Given the description of an element on the screen output the (x, y) to click on. 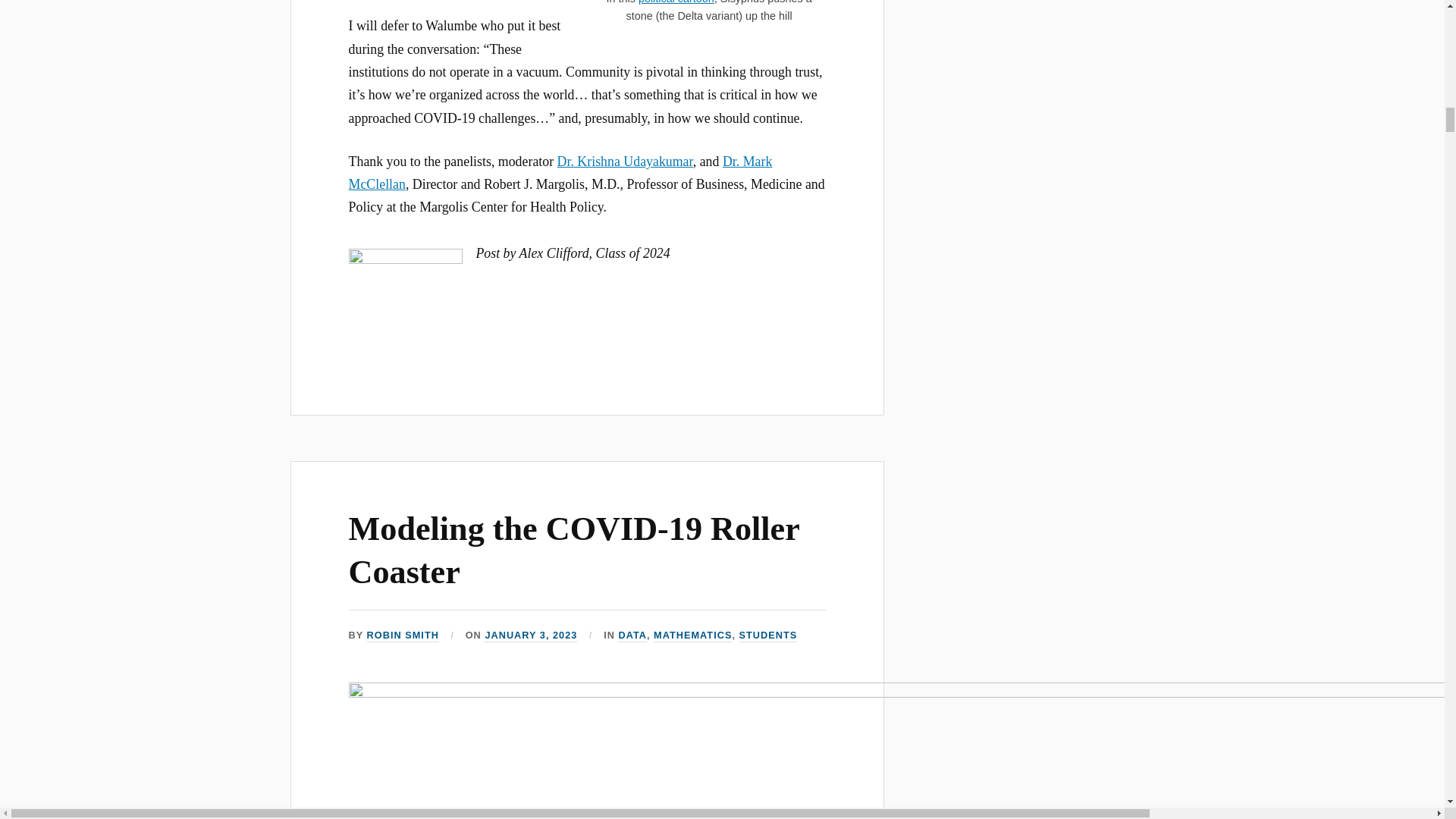
MATHEMATICS (692, 635)
STUDENTS (768, 635)
Posts by Robin Smith (402, 635)
ROBIN SMITH (402, 635)
JANUARY 3, 2023 (530, 635)
Dr. Krishna Udayakumar (625, 160)
DATA (631, 635)
Modeling the COVID-19 Roller Coaster (574, 550)
political cartoon (676, 2)
Dr. Mark McClellan (561, 172)
